Given the description of an element on the screen output the (x, y) to click on. 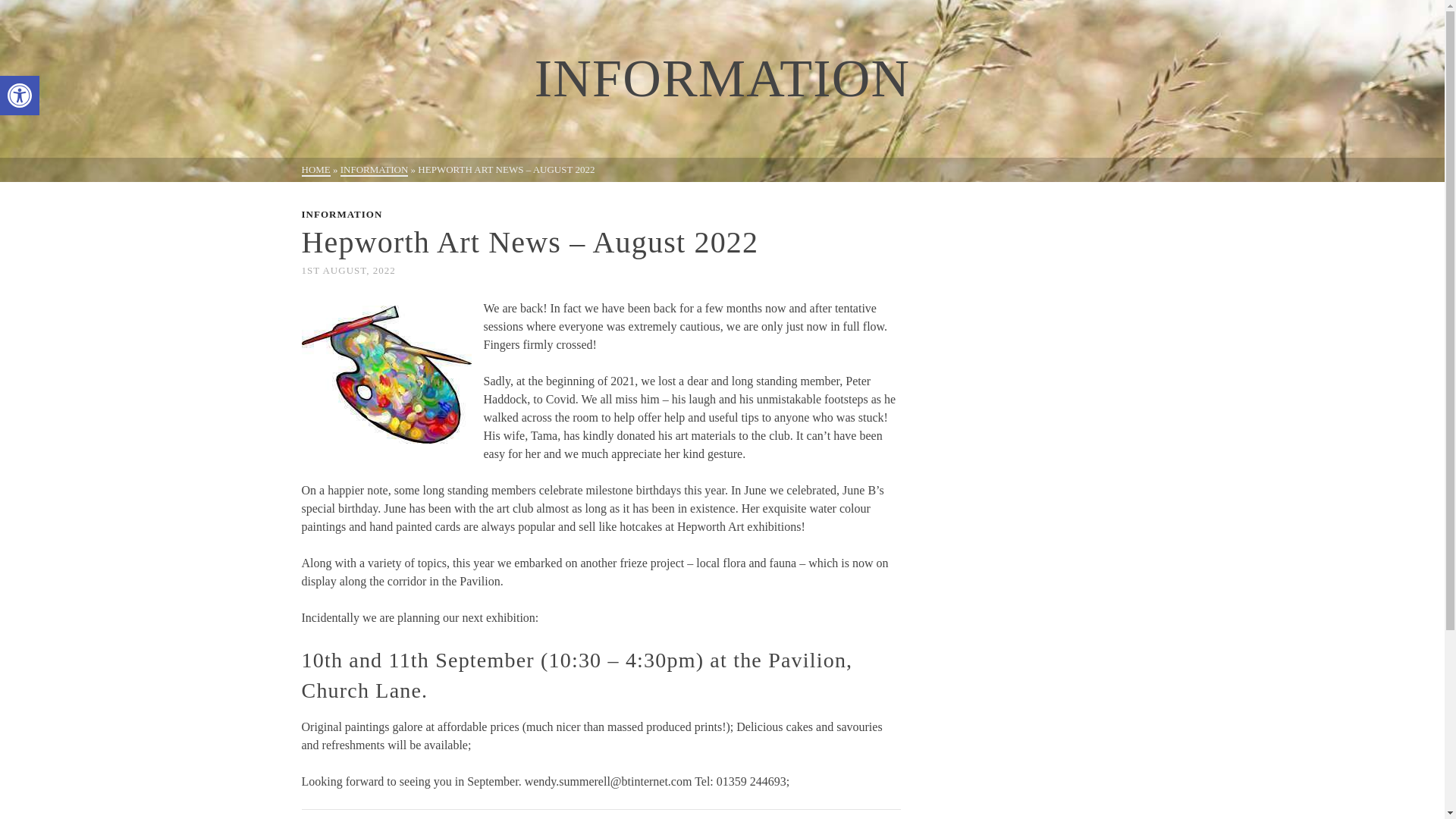
VILLAGE HISTORY (562, 37)
Accessibility Tools (19, 95)
PARISH COUNCIL (439, 37)
Accessibility Tools (19, 95)
EVENTS (19, 95)
